Given the description of an element on the screen output the (x, y) to click on. 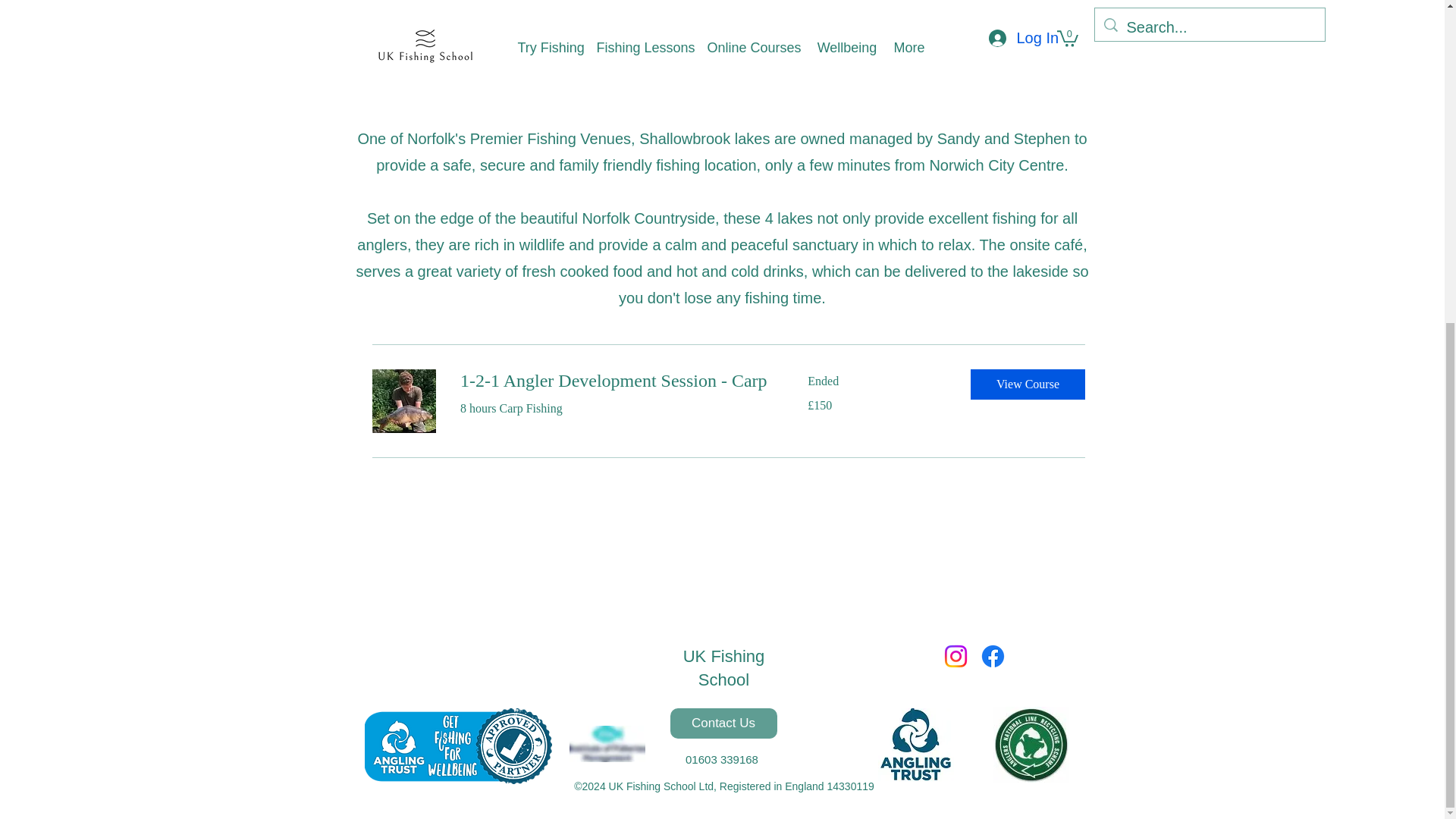
Contact Us (723, 723)
1-2-1 Angler Development Session - Carp (615, 381)
View Course (1027, 384)
